Given the description of an element on the screen output the (x, y) to click on. 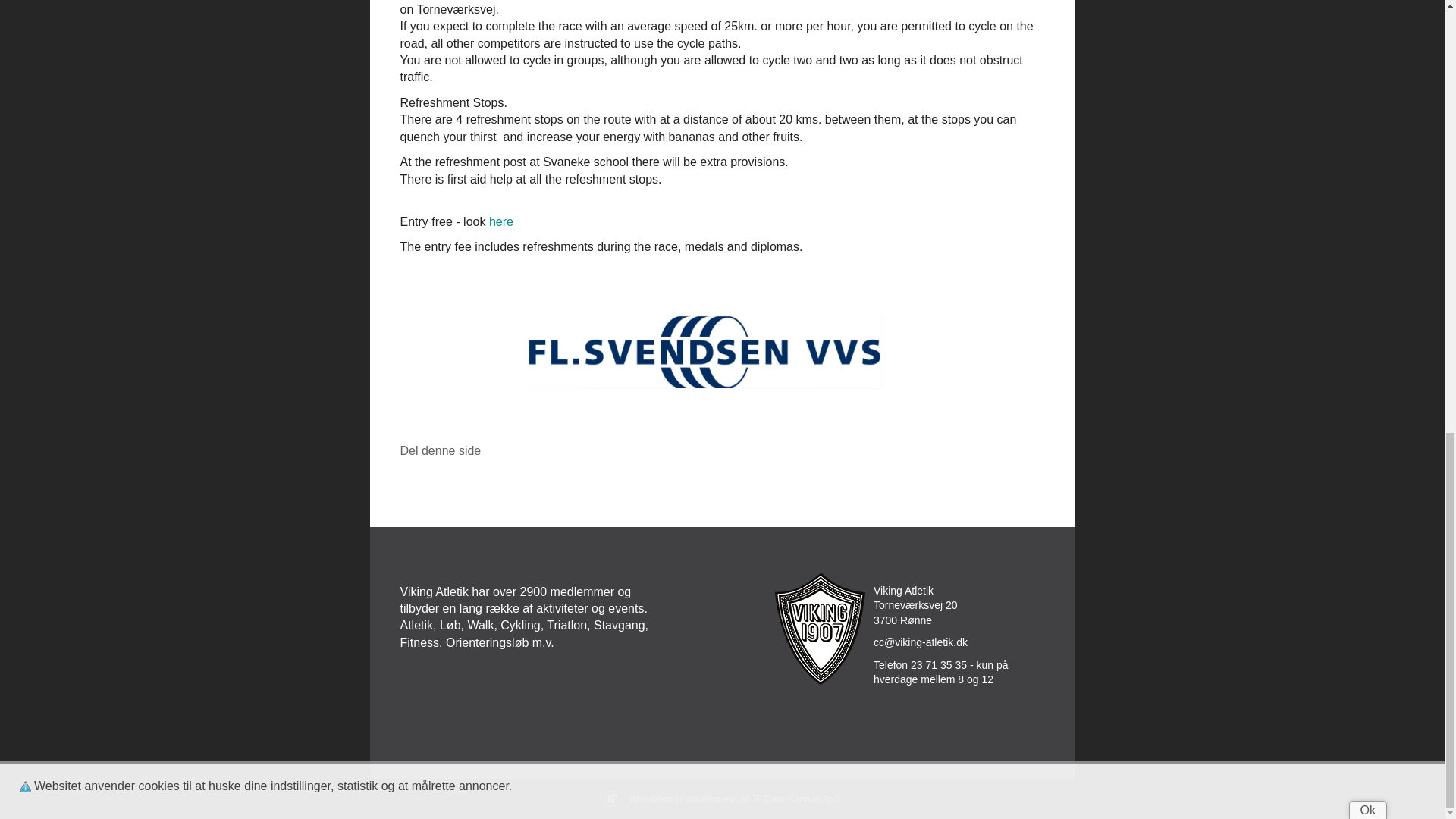
here (501, 221)
Tilmelding (501, 221)
Websiden er sponsoreret af JF Data Service ApS (722, 798)
